Given the description of an element on the screen output the (x, y) to click on. 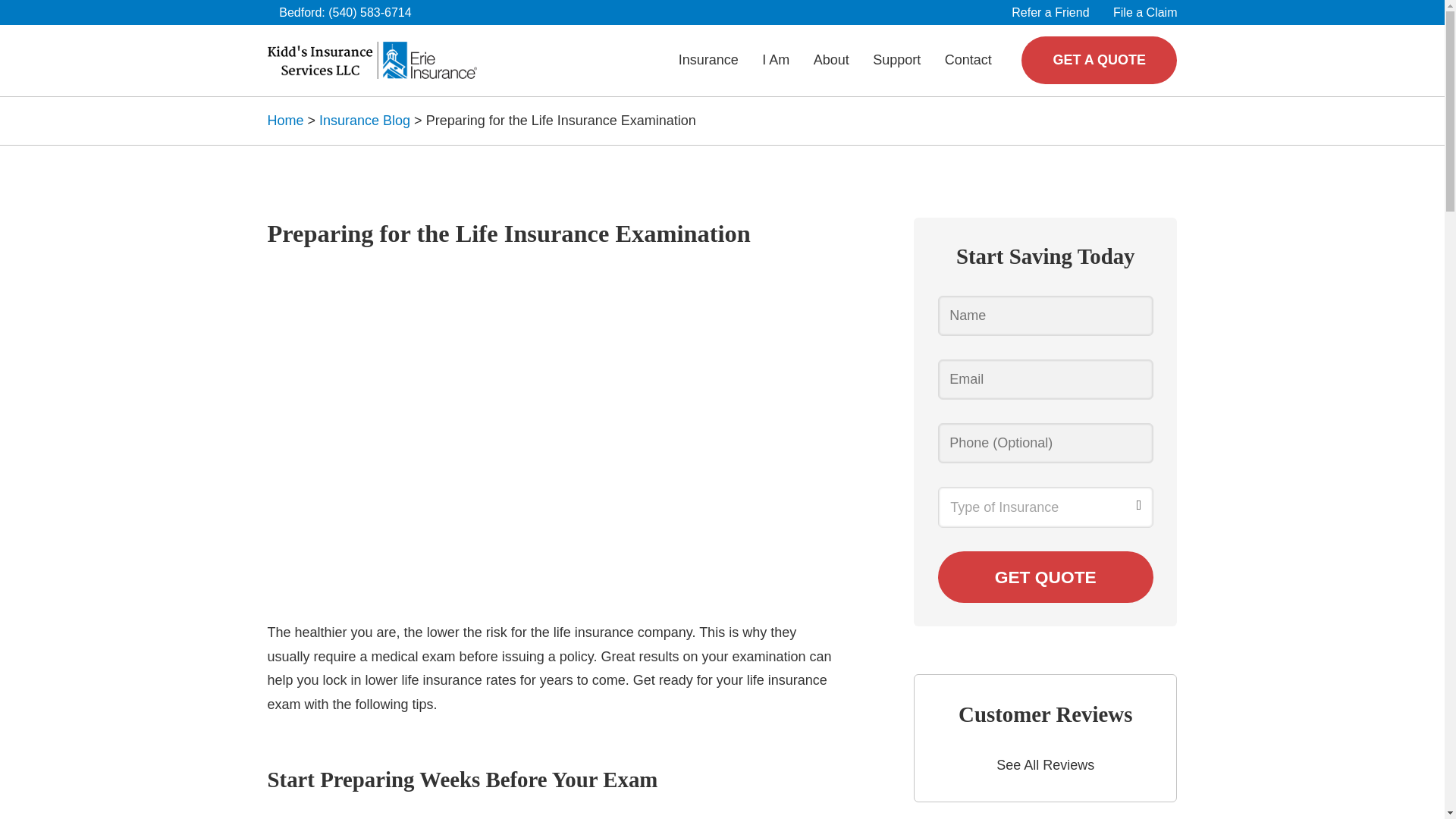
About (831, 60)
I Am (775, 60)
Refer a Friend (1050, 11)
Home Page (371, 59)
Get Quote (1045, 576)
Insurance (708, 60)
File a Claim (1144, 11)
